Given the description of an element on the screen output the (x, y) to click on. 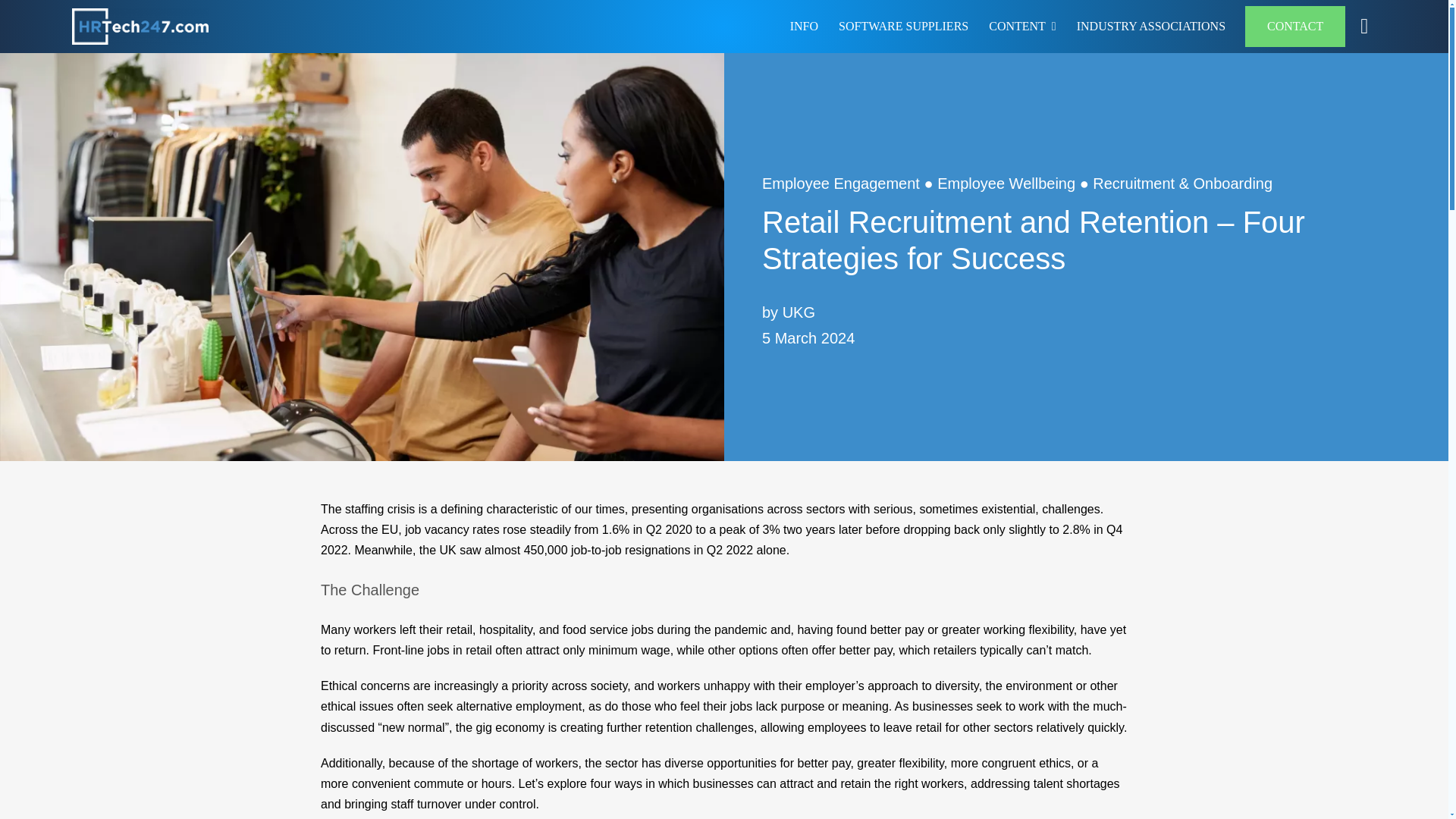
by UKG (788, 312)
CONTACT (1294, 25)
Employee Wellbeing (1006, 183)
CONTENT (1022, 26)
INDUSTRY ASSOCIATIONS (1150, 26)
Employee Engagement (840, 183)
SOFTWARE SUPPLIERS (903, 26)
Employee Wellbeing (1006, 183)
INFO (804, 26)
Employee Engagement (840, 183)
